Given the description of an element on the screen output the (x, y) to click on. 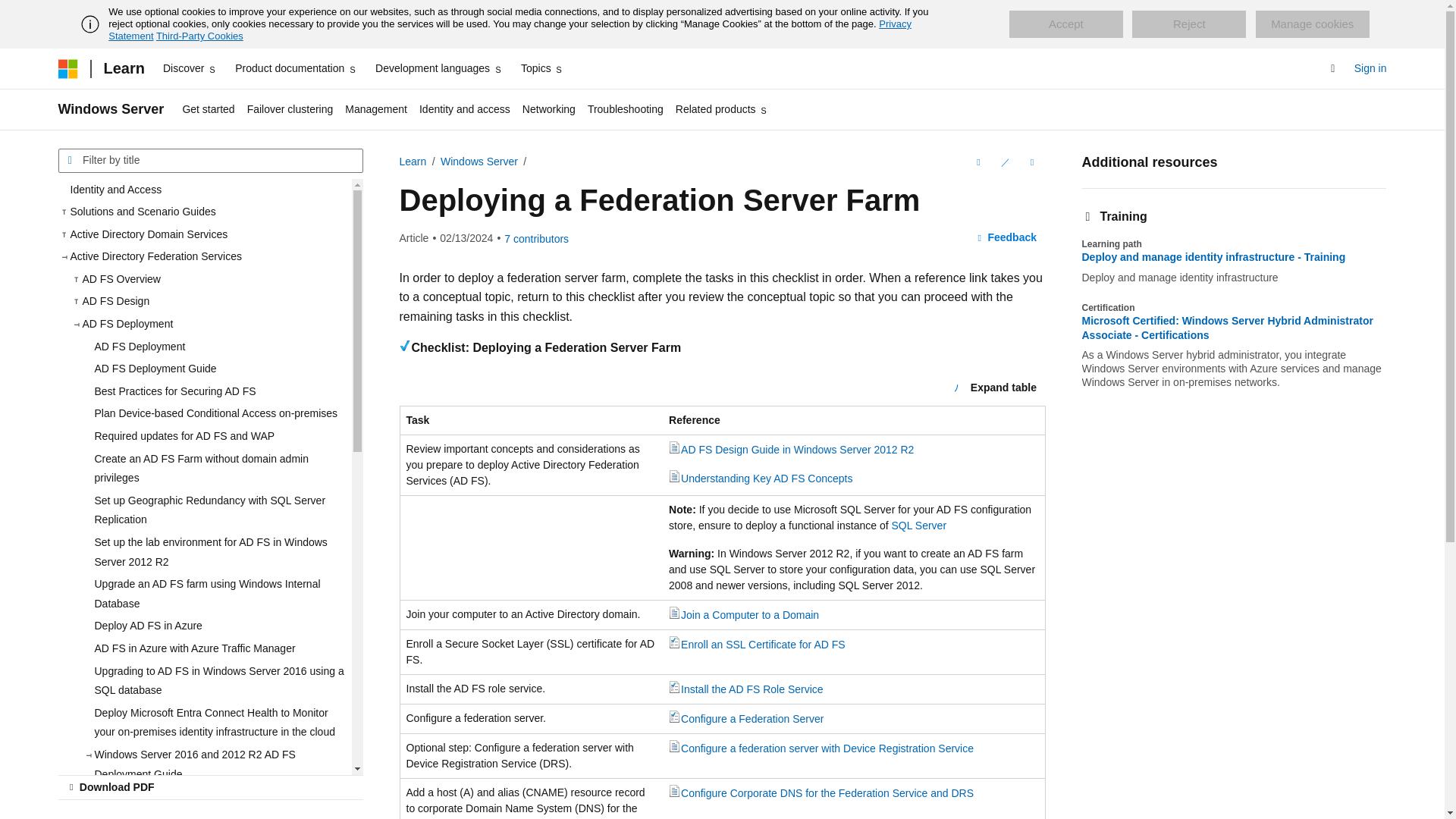
Management (376, 109)
Topics (542, 68)
Privacy Statement (509, 29)
Failover clustering (290, 109)
Discover (189, 68)
Networking (548, 109)
Windows Server (110, 109)
Troubleshooting (624, 109)
Identity and access (464, 109)
Manage cookies (1312, 23)
Development languages (438, 68)
Reject (1189, 23)
Skip to main content (11, 11)
Related products (721, 109)
Product documentation (295, 68)
